Given the description of an element on the screen output the (x, y) to click on. 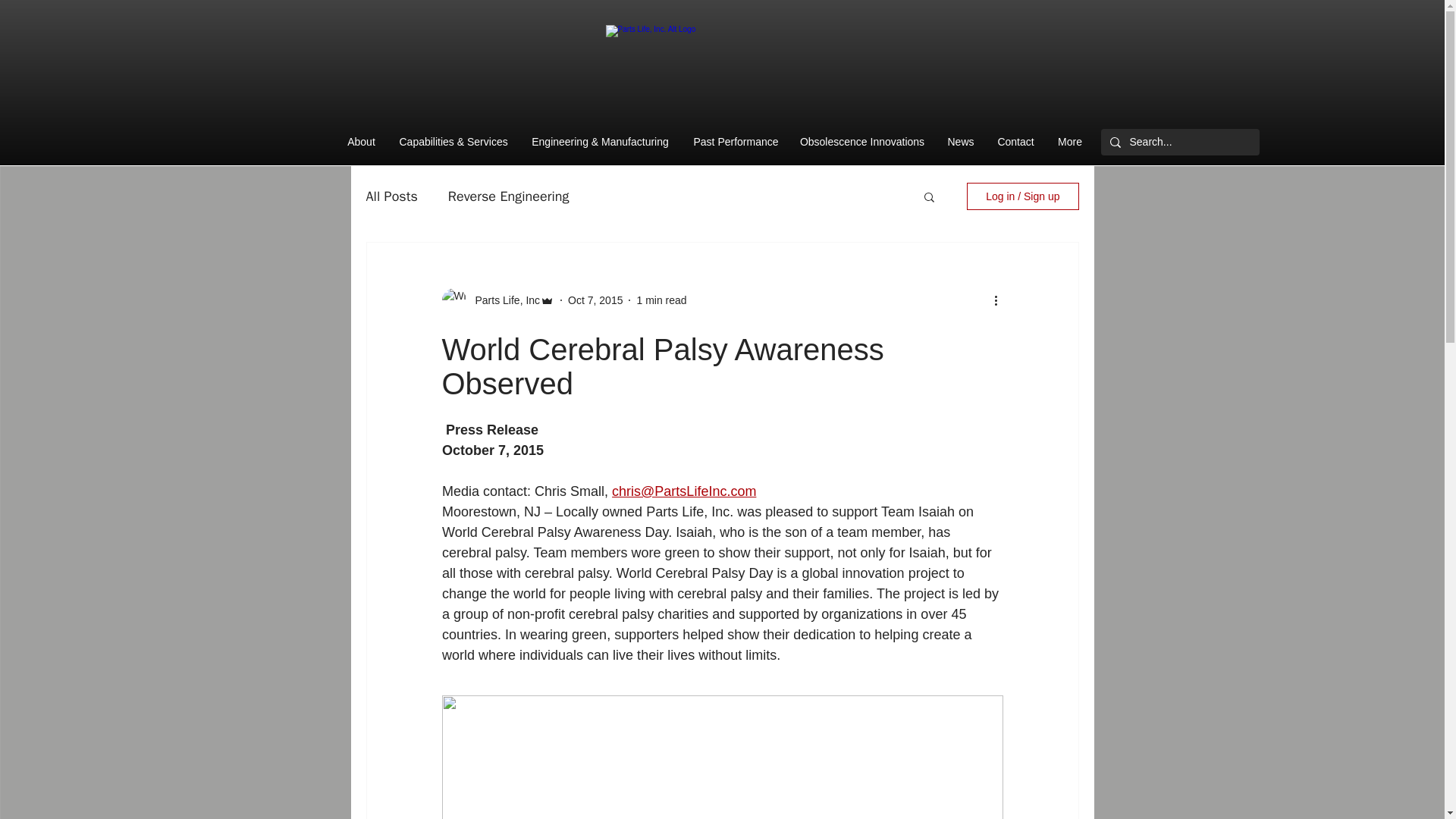
Past Performance (735, 141)
Reverse Engineering (508, 196)
1 min read (660, 300)
About (361, 141)
All Posts (390, 196)
Parts Life, Inc (502, 300)
News (960, 141)
Obsolescence Innovations (862, 141)
Contact (1015, 141)
Oct 7, 2015 (595, 300)
